Given the description of an element on the screen output the (x, y) to click on. 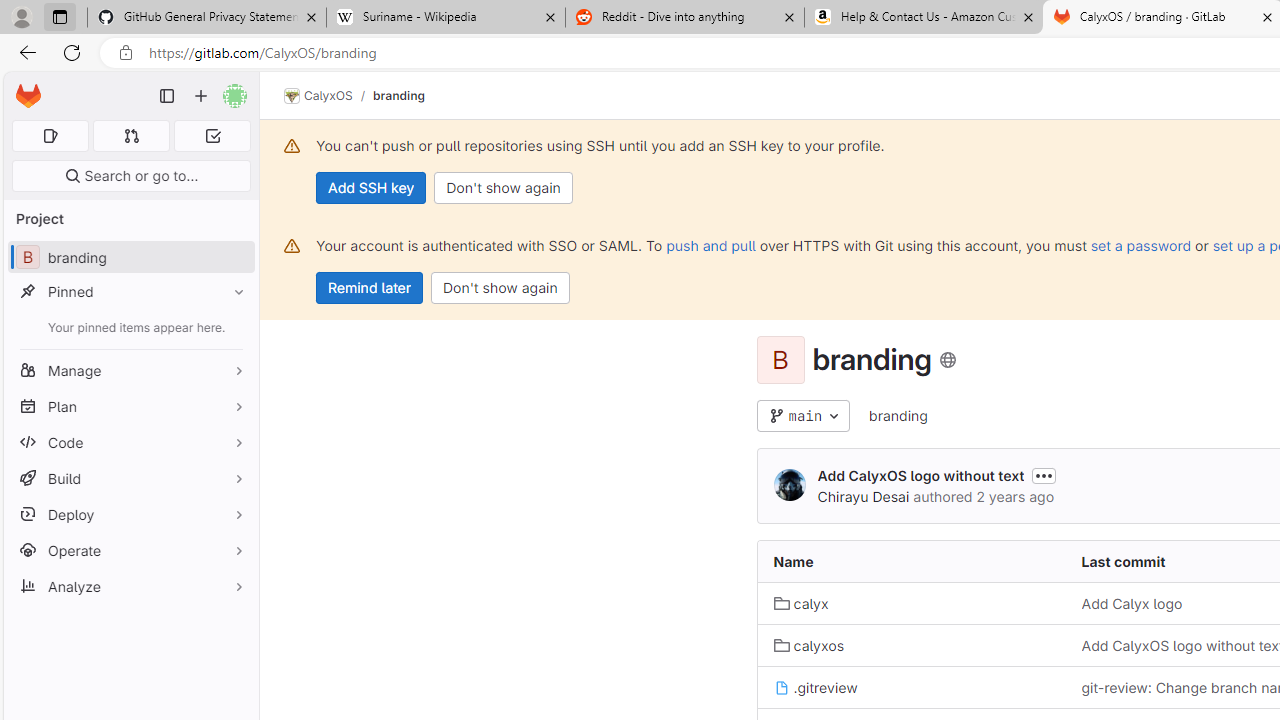
Chirayu Desai's avatar (789, 484)
Bbranding (130, 257)
To-Do list 0 (212, 136)
Analyze (130, 586)
Suriname - Wikipedia (445, 17)
GitHub General Privacy Statement - GitHub Docs (207, 17)
Operate (130, 550)
calyxos (808, 645)
calyxos (911, 645)
Build (130, 478)
